Given the description of an element on the screen output the (x, y) to click on. 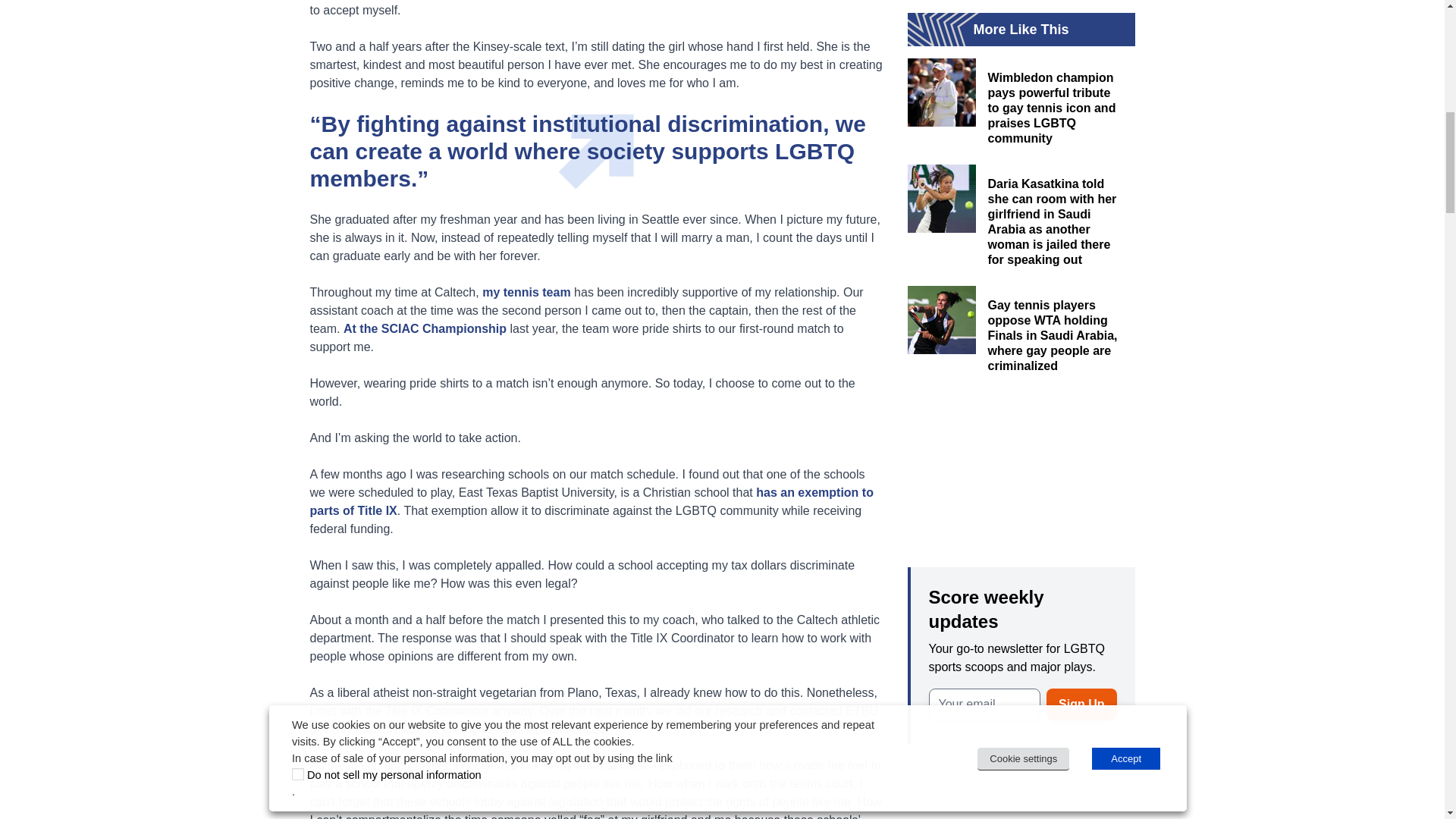
Sign Up (1081, 704)
has an exemption to parts of Title IX (590, 500)
At the SCIAC Championship (424, 327)
my tennis team (525, 291)
